Given the description of an element on the screen output the (x, y) to click on. 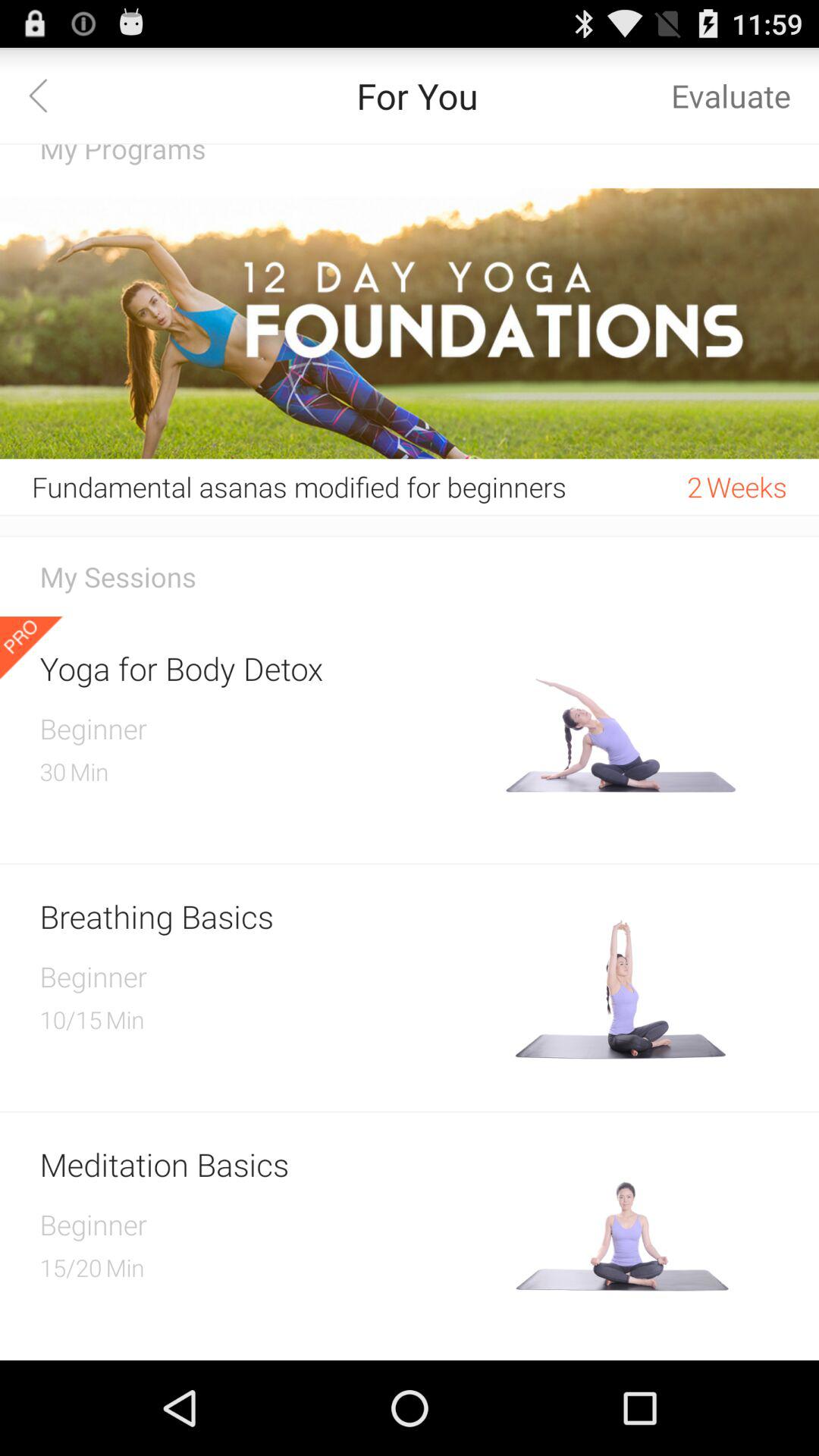
scroll to the breathing basics icon (266, 915)
